Given the description of an element on the screen output the (x, y) to click on. 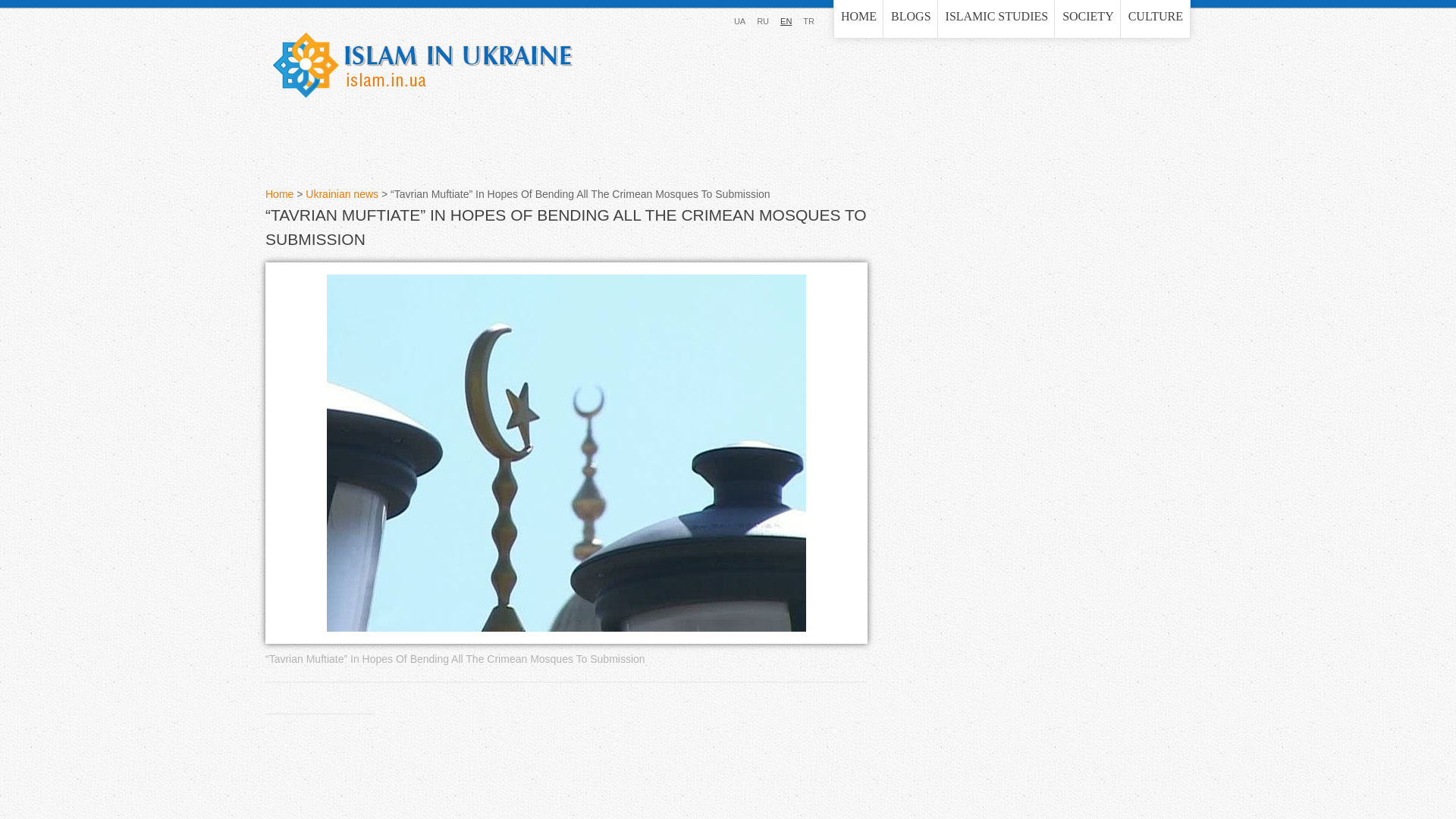
HOME (858, 18)
SOCIETY (1088, 18)
ISLAMIC STUDIES (996, 18)
RU (762, 20)
BLOGS (910, 18)
Ukrainian news (341, 193)
Ana Sayfa (808, 20)
EN (786, 20)
Home (422, 64)
Islamic Studies (996, 18)
Home (279, 193)
CULTURE (1155, 18)
UA (739, 20)
TR (808, 20)
